Given the description of an element on the screen output the (x, y) to click on. 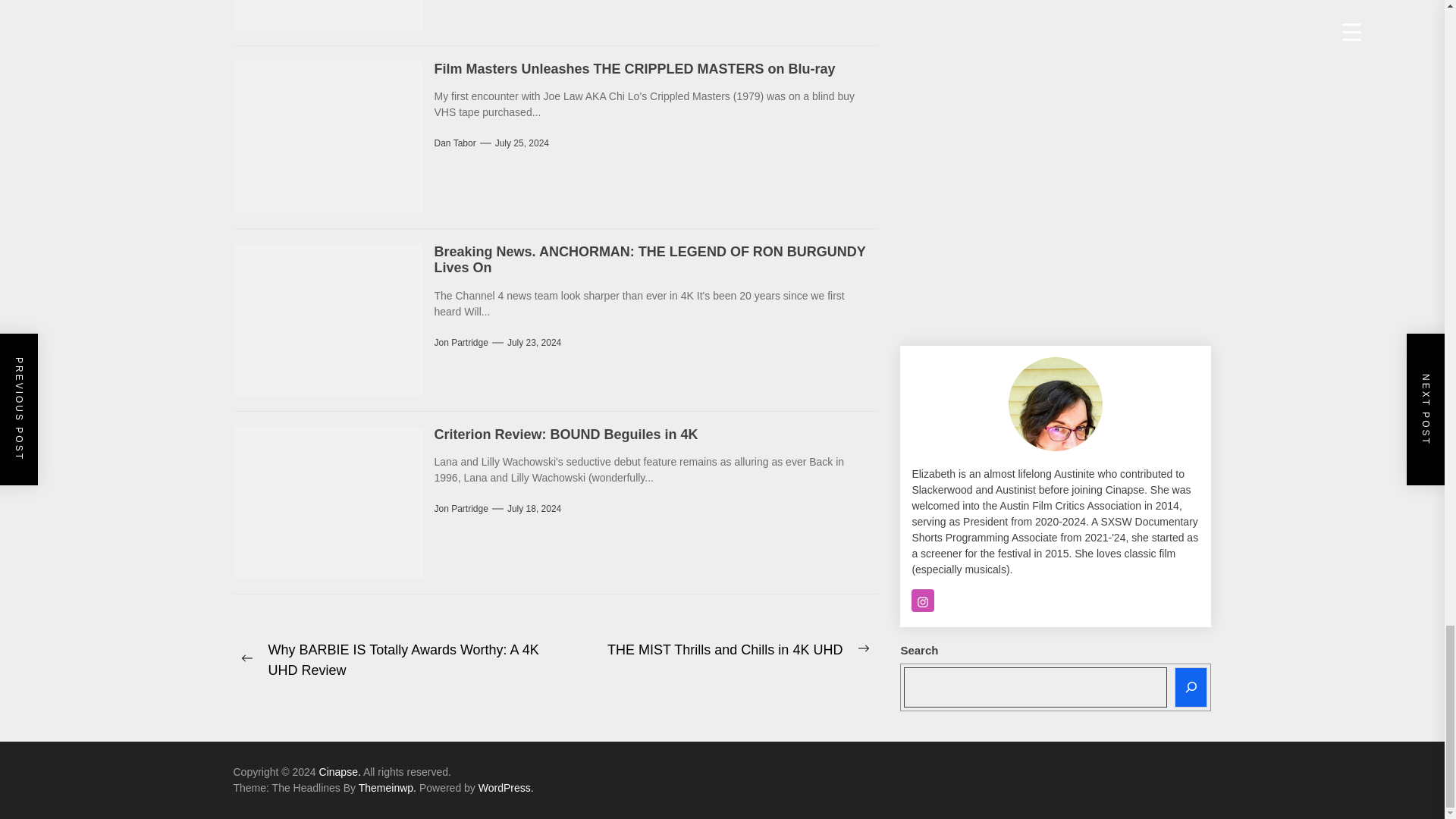
Cinapse (340, 771)
WordPress (506, 787)
Themeinwp (388, 787)
